Given the description of an element on the screen output the (x, y) to click on. 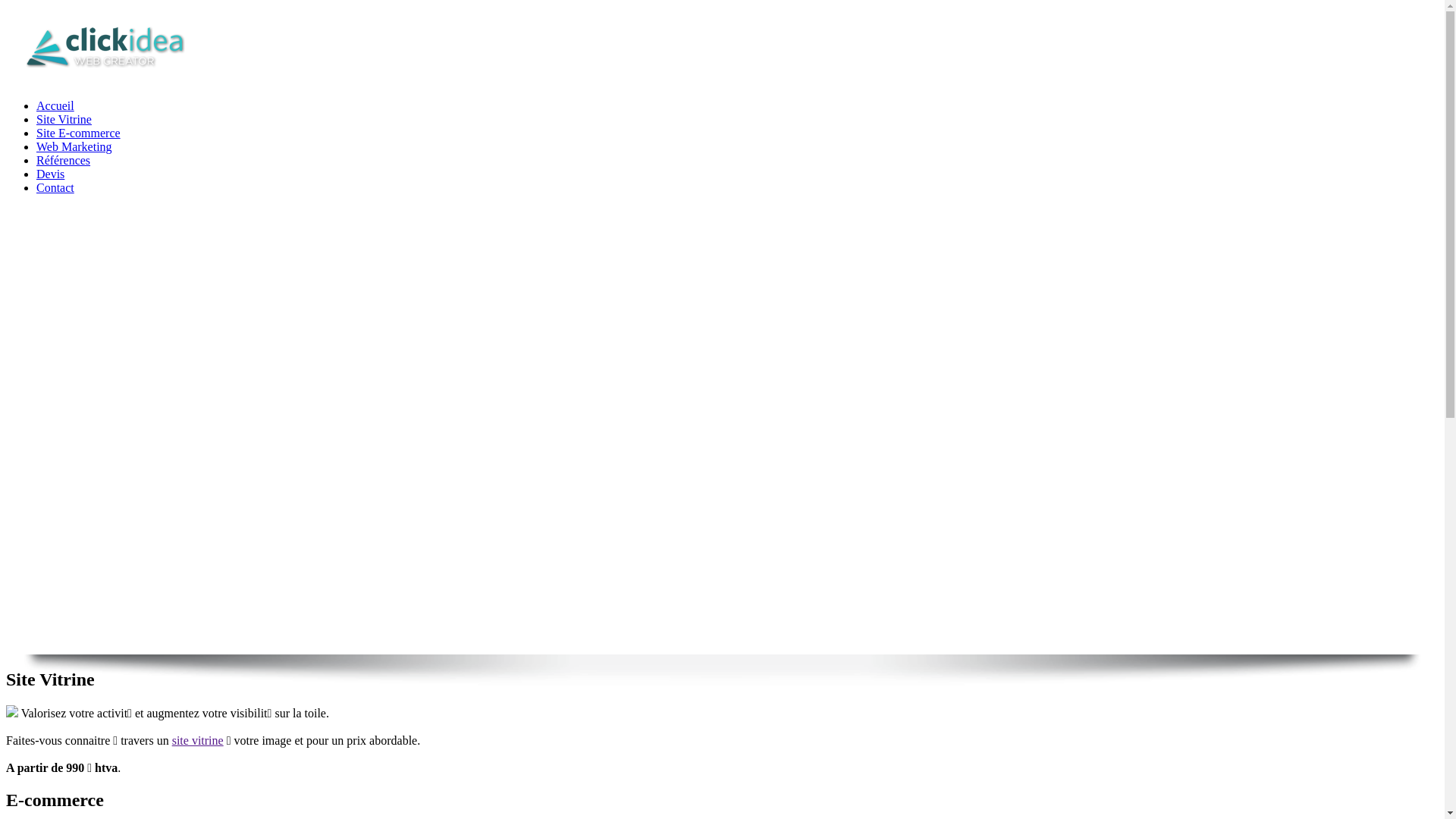
Site Vitrine Element type: text (63, 118)
site vitrine Element type: text (197, 740)
Accueil Element type: text (55, 105)
Web Marketing Element type: text (74, 146)
Contact Element type: text (55, 187)
Site E-commerce Element type: text (78, 132)
Devis Element type: text (50, 173)
